Given the description of an element on the screen output the (x, y) to click on. 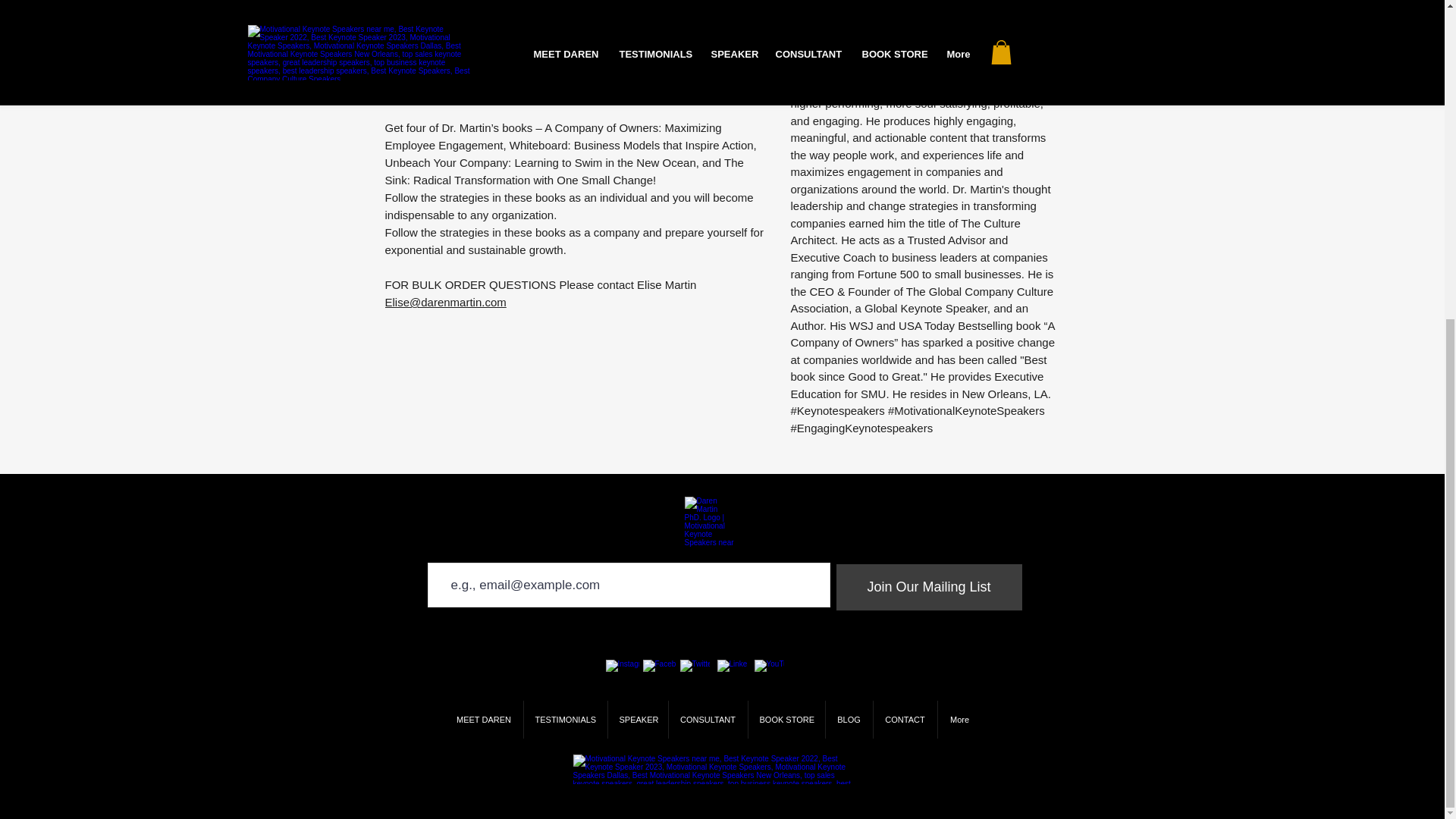
MEET DAREN (483, 719)
TESTIMONIALS (564, 719)
CONSULTANT (708, 719)
BLOG (848, 719)
SPEAKER (638, 719)
Join Our Mailing List (928, 587)
CONTACT (905, 719)
BOOK STORE (786, 719)
